Given the description of an element on the screen output the (x, y) to click on. 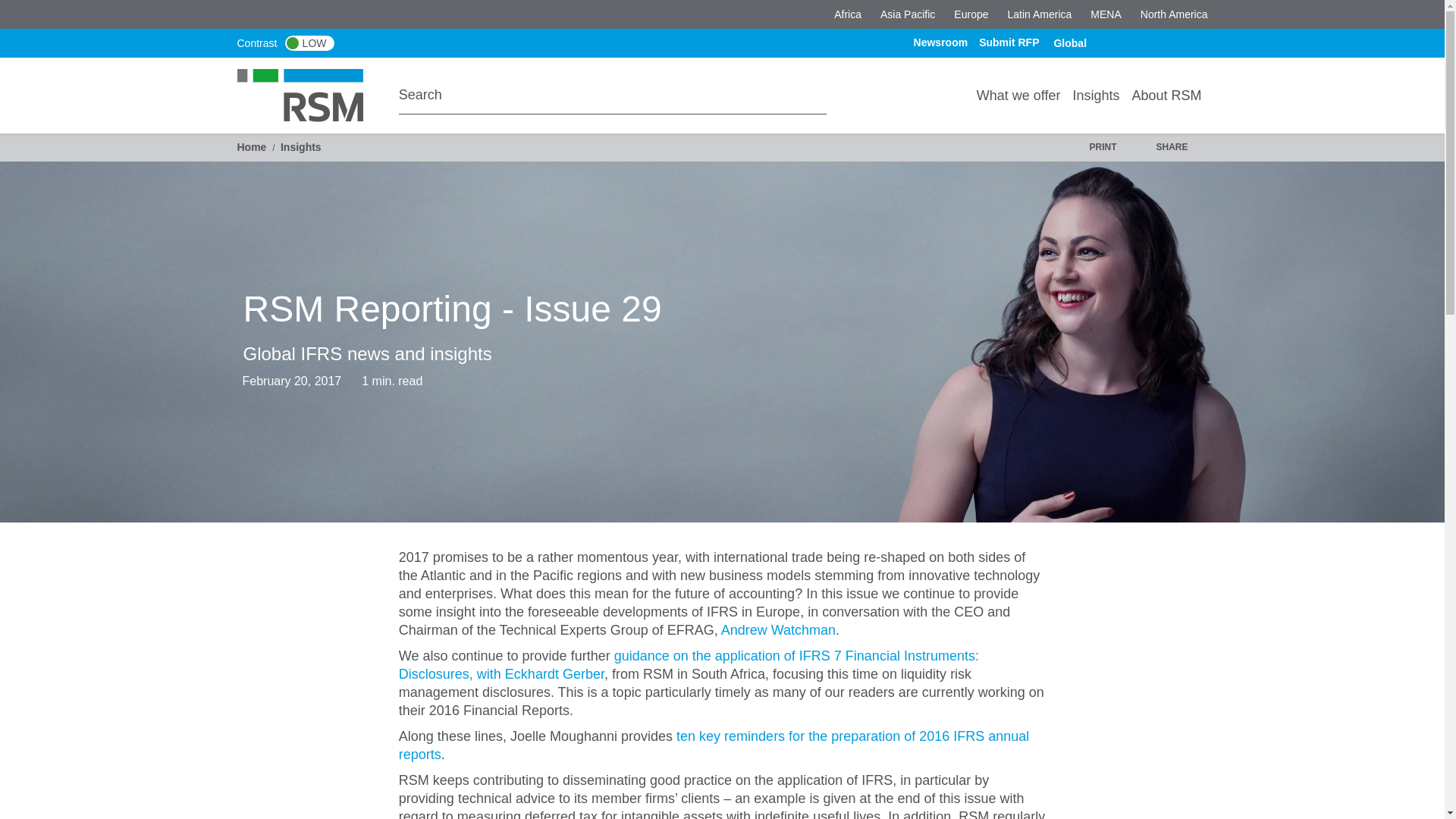
What we offer (1019, 95)
Newsroom (941, 42)
MENA (1105, 14)
North America (1174, 14)
Submit RFP (1008, 42)
Insights (1095, 95)
Africa (847, 14)
home (308, 93)
Latin America (1039, 14)
Asia Pacific (907, 14)
Europe (970, 14)
